Given the description of an element on the screen output the (x, y) to click on. 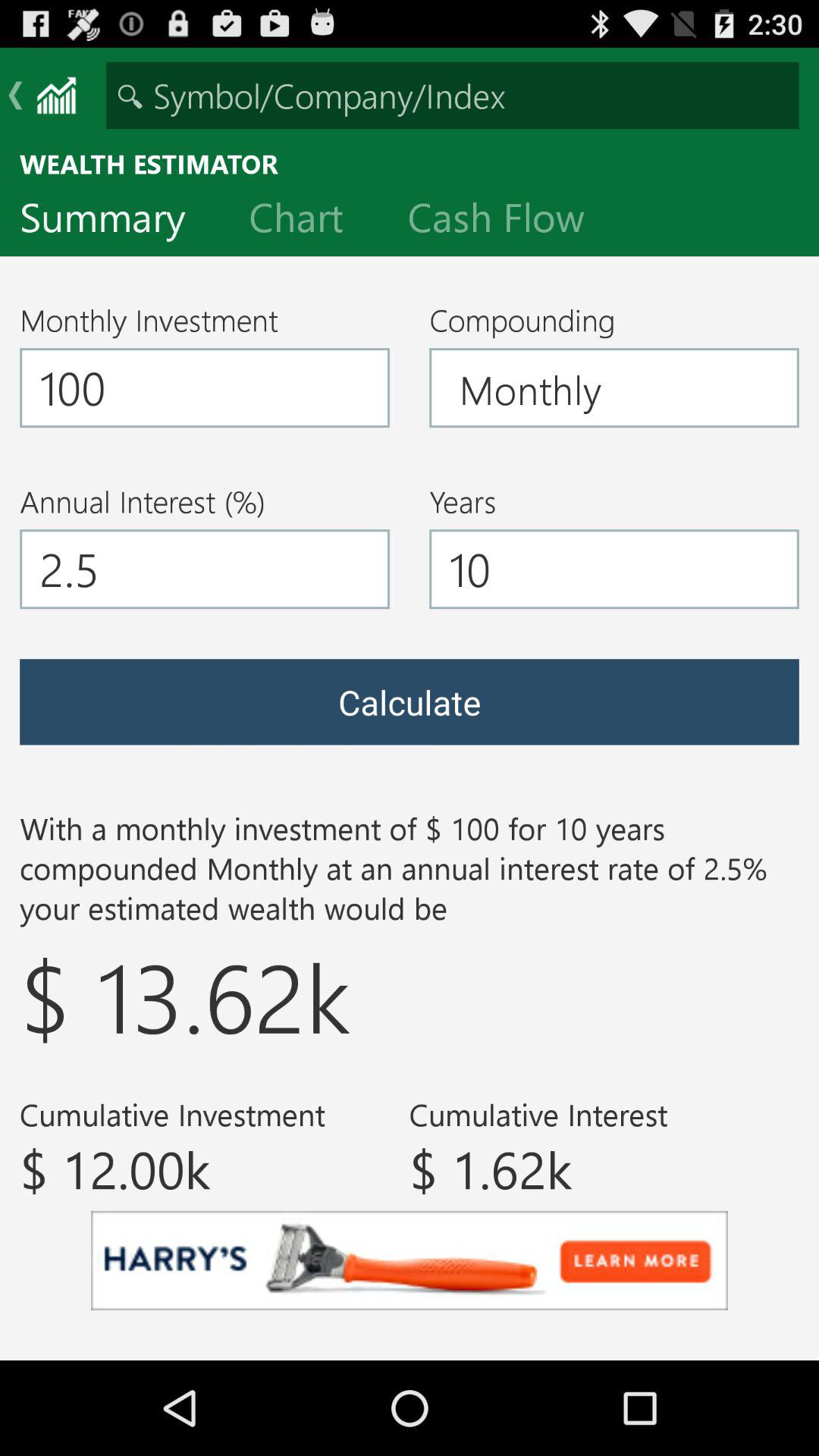
select the item to the right of chart icon (507, 220)
